Given the description of an element on the screen output the (x, y) to click on. 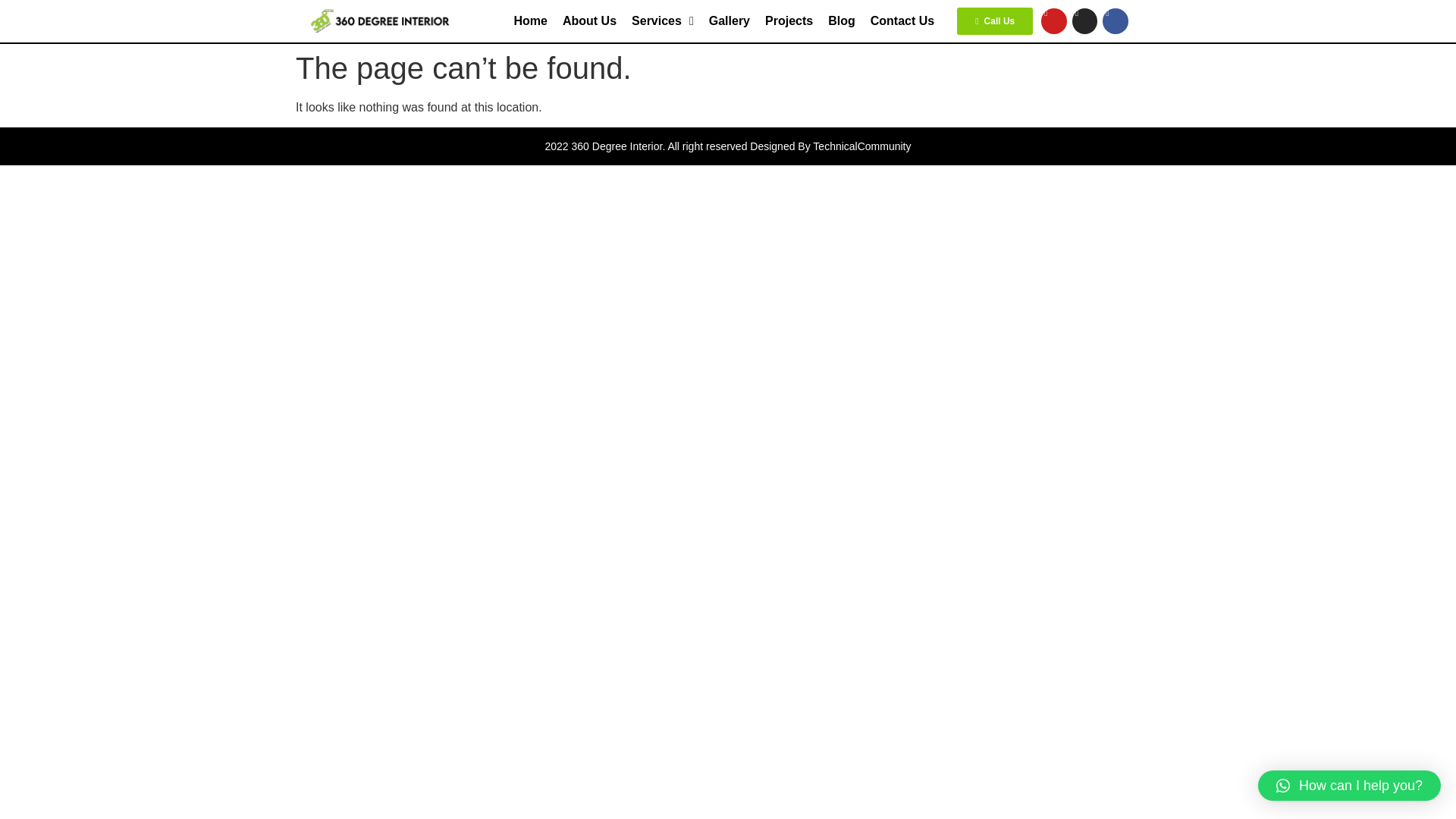
Contact Us (902, 21)
Projects (789, 21)
Call Us (994, 21)
Blog (842, 21)
Home (530, 21)
About Us (589, 21)
Gallery (729, 21)
Services (662, 21)
